Given the description of an element on the screen output the (x, y) to click on. 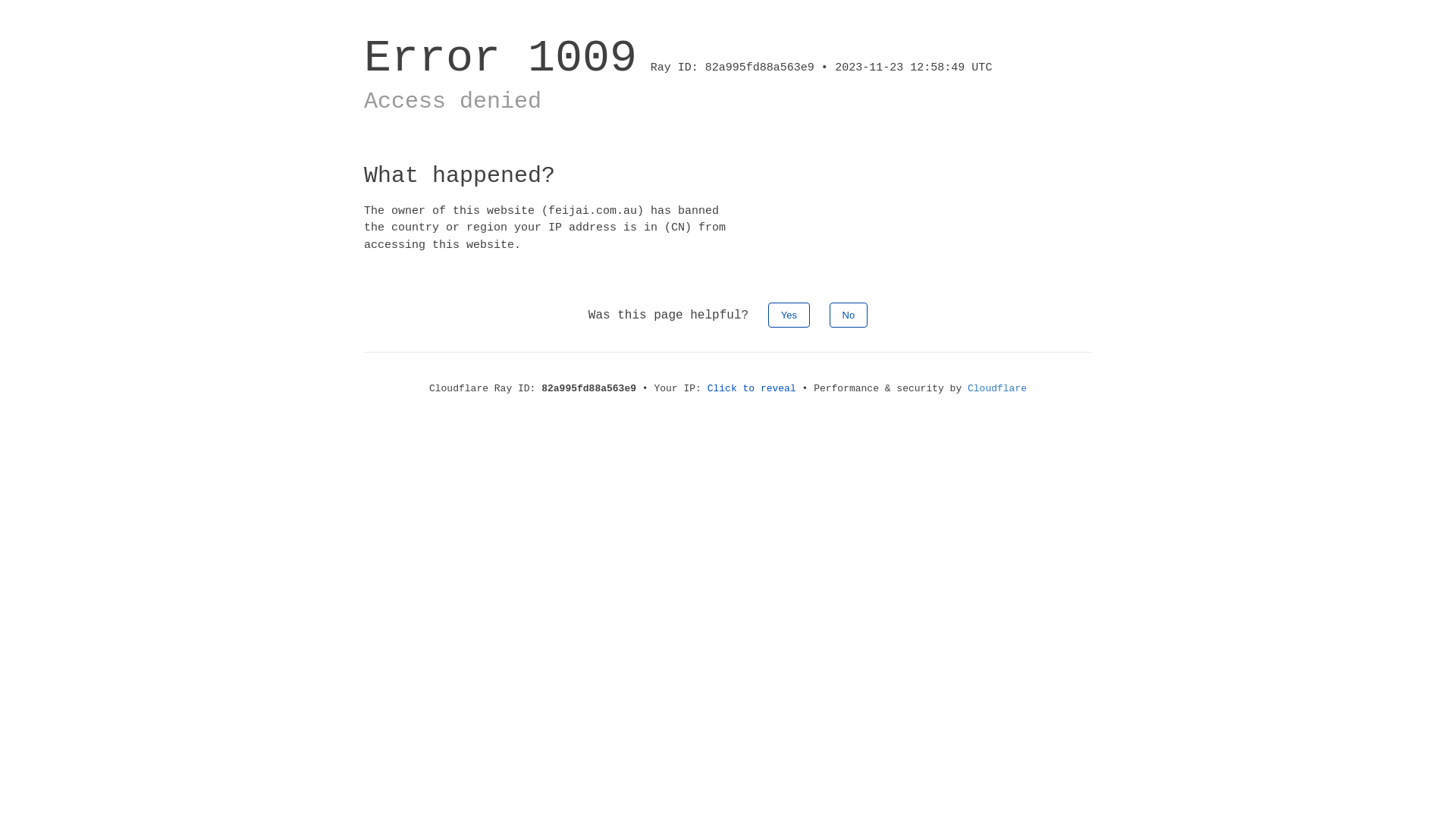
Yes Element type: text (788, 314)
Click to reveal Element type: text (751, 388)
No Element type: text (848, 314)
Cloudflare Element type: text (996, 388)
